Given the description of an element on the screen output the (x, y) to click on. 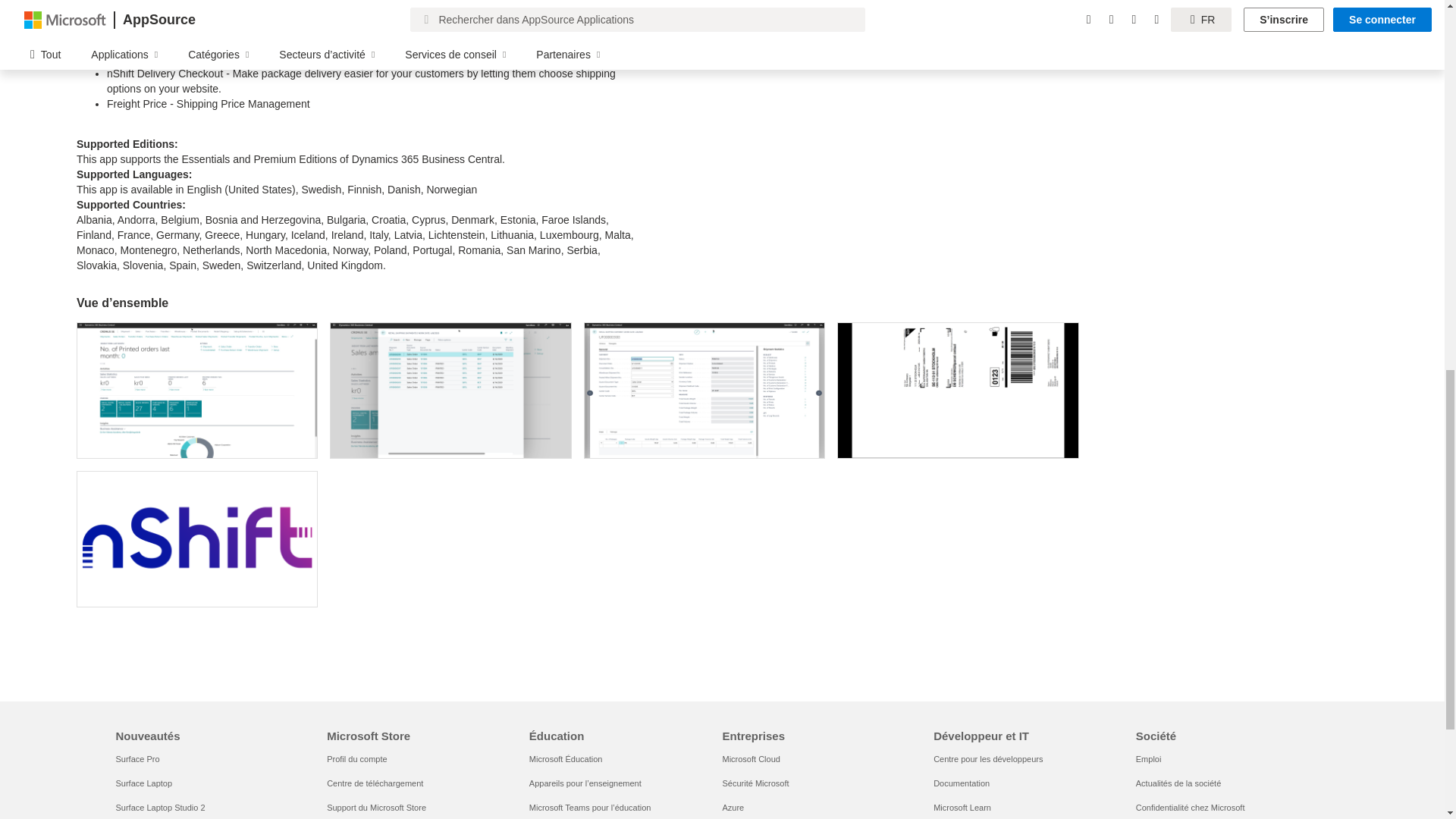
Profil du compte (356, 758)
Surface Laptop Studio 2 (160, 807)
Surface Pro (136, 758)
Surface Laptop (143, 782)
Support du Microsoft Store (376, 807)
